Given the description of an element on the screen output the (x, y) to click on. 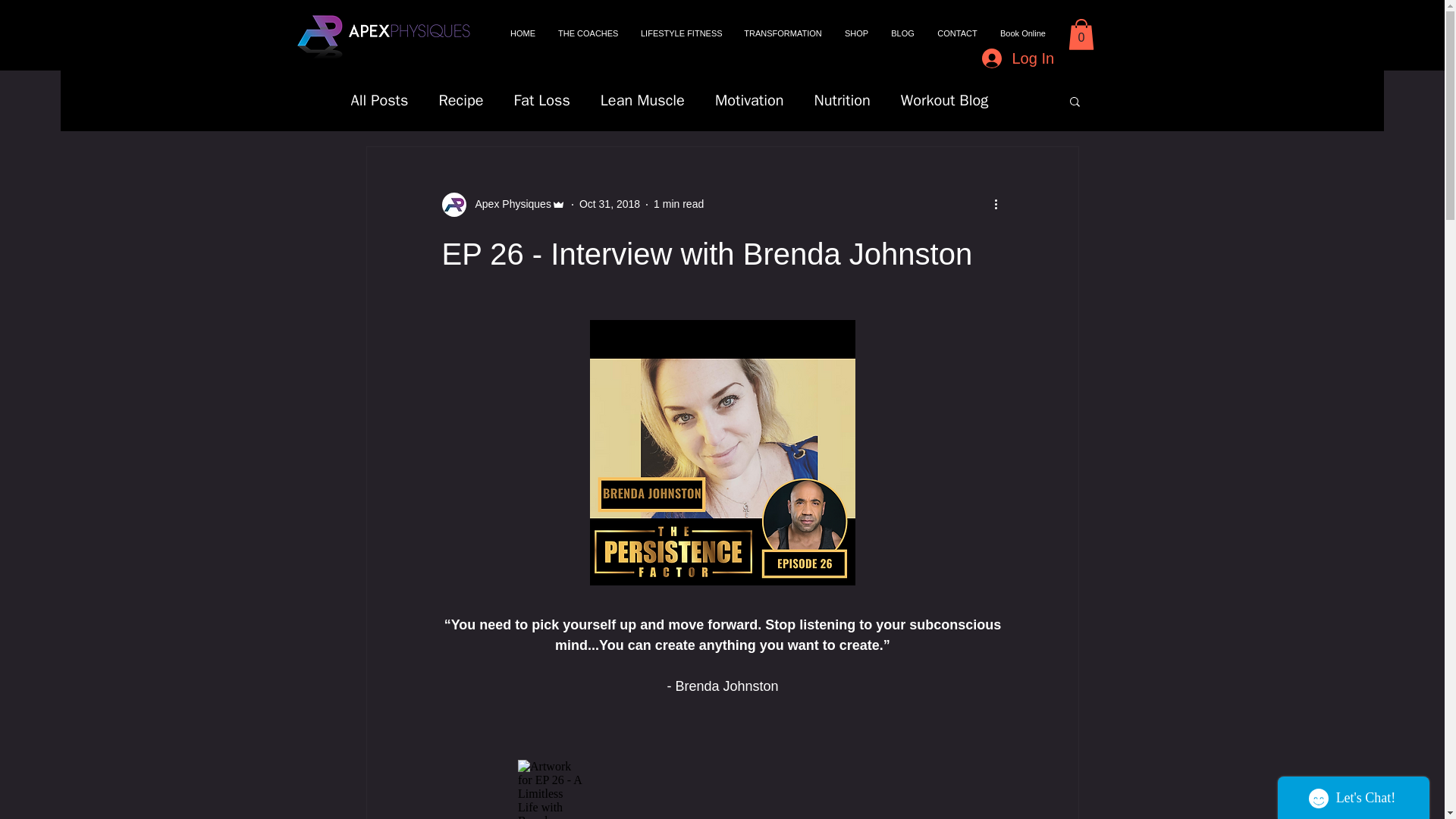
remote content (721, 789)
Apex Physiques  (507, 204)
THE COACHES (587, 33)
LIFESTYLE FITNESS (680, 33)
Oct 31, 2018 (609, 203)
SHOP (855, 33)
Book Online (1022, 33)
TRANSFORMATION (782, 33)
Recipe (460, 100)
Nutrition (841, 100)
Motivation (749, 100)
All Posts (378, 100)
Apex Physiques (502, 204)
Lean Muscle (641, 100)
Workout Blog (944, 100)
